Given the description of an element on the screen output the (x, y) to click on. 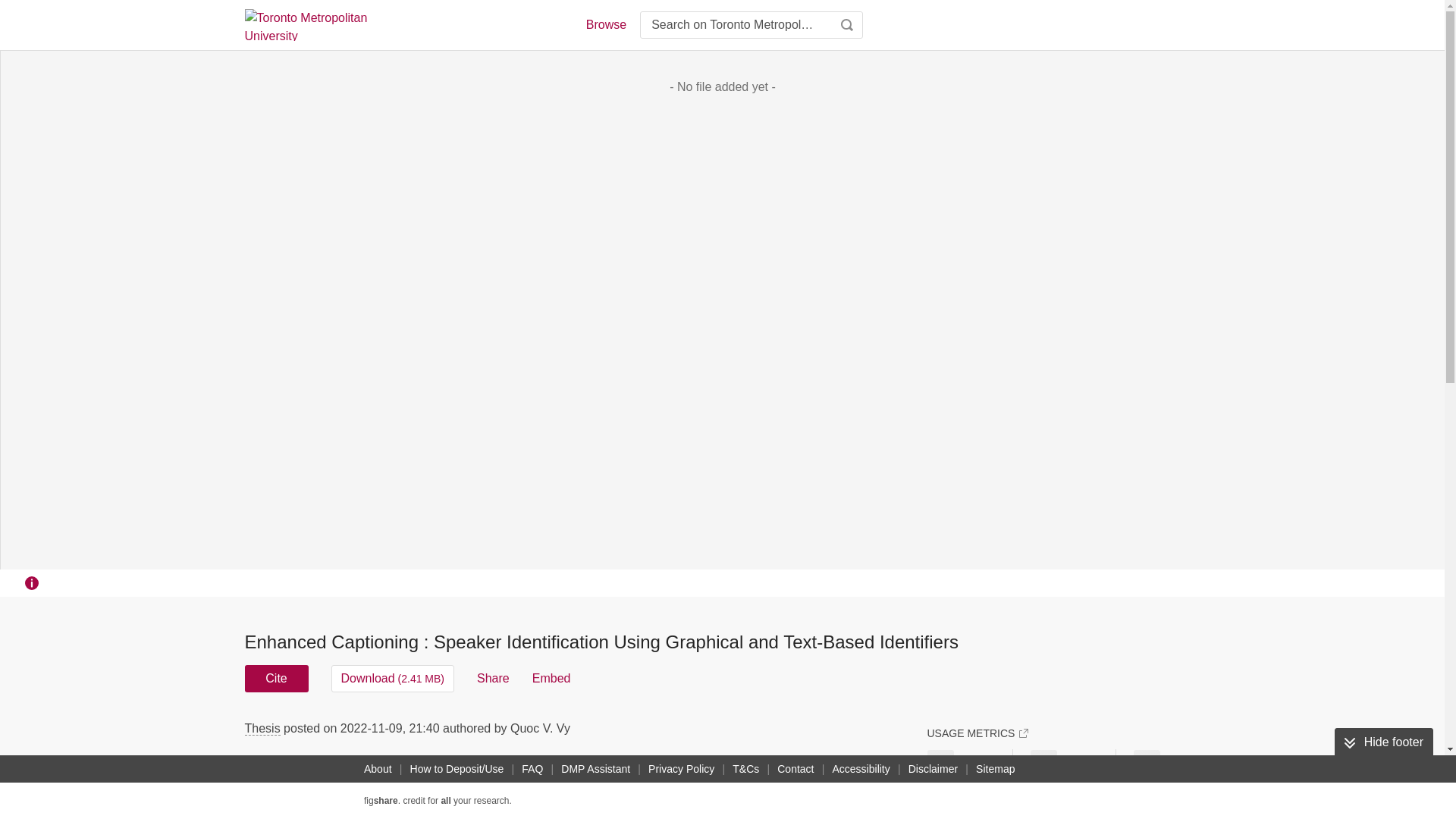
Privacy Policy (681, 769)
USAGE METRICS (976, 732)
Sitemap (995, 769)
Disclaimer (933, 769)
Embed (551, 678)
FAQ (531, 769)
Cite (275, 678)
DMP Assistant (595, 769)
Share (493, 678)
Browse (605, 24)
